Given the description of an element on the screen output the (x, y) to click on. 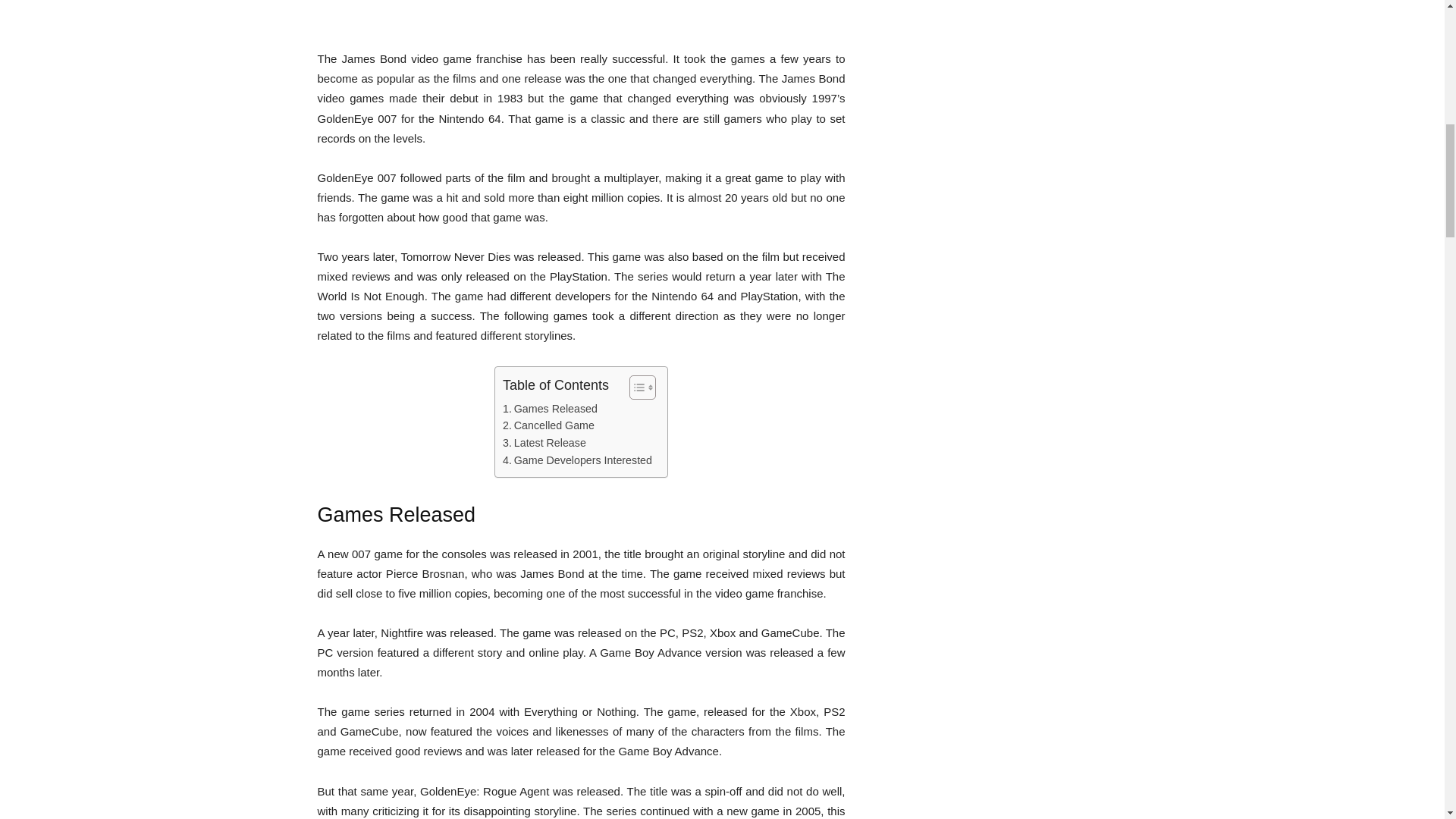
Games Released (549, 408)
Latest Release (544, 443)
Game Developers Interested (577, 460)
Games Released (549, 408)
Cancelled Game (548, 425)
